Given the description of an element on the screen output the (x, y) to click on. 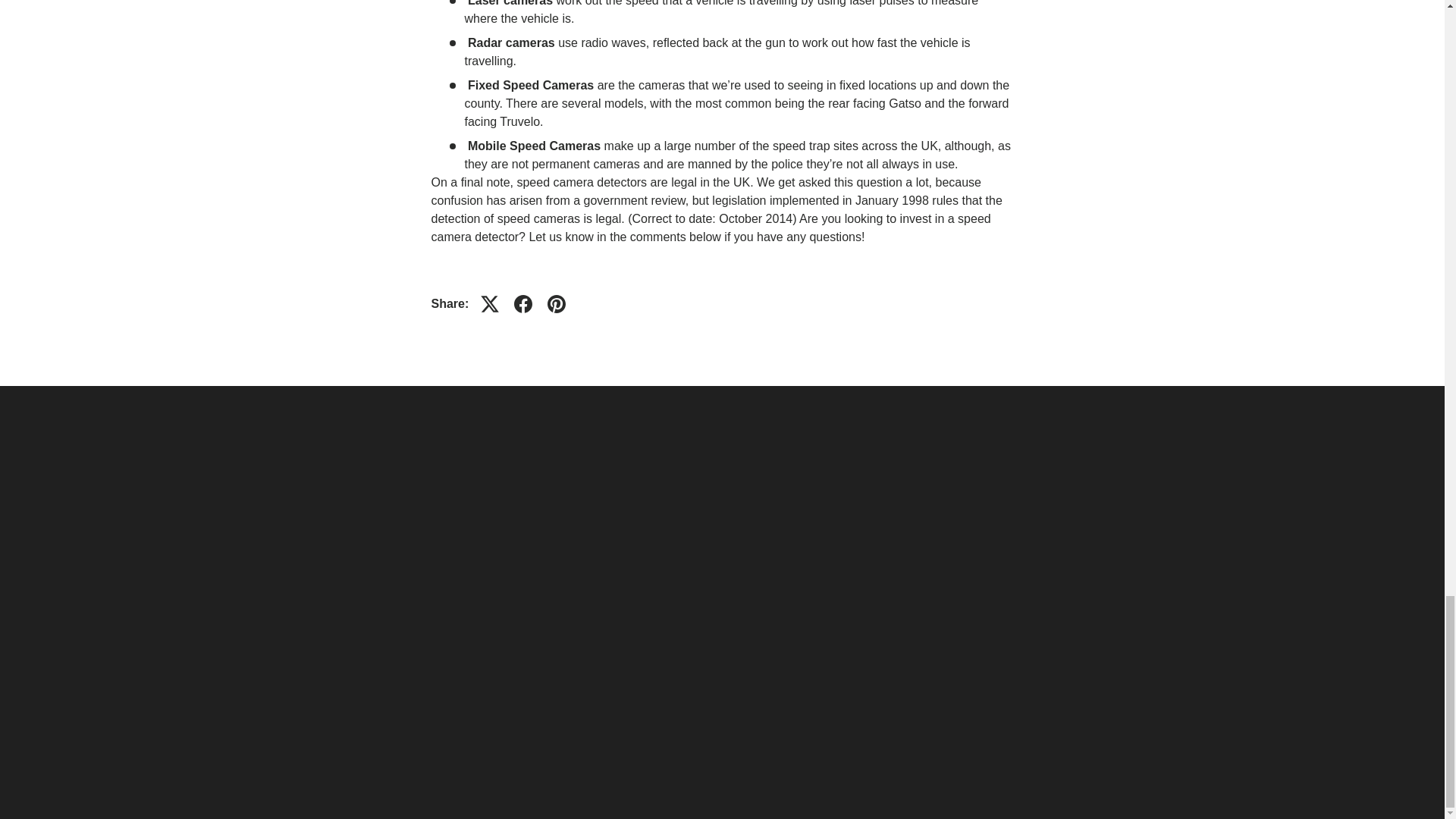
Pin on Pinterest (556, 304)
Tweet on X (489, 304)
Share on Facebook (523, 304)
